Given the description of an element on the screen output the (x, y) to click on. 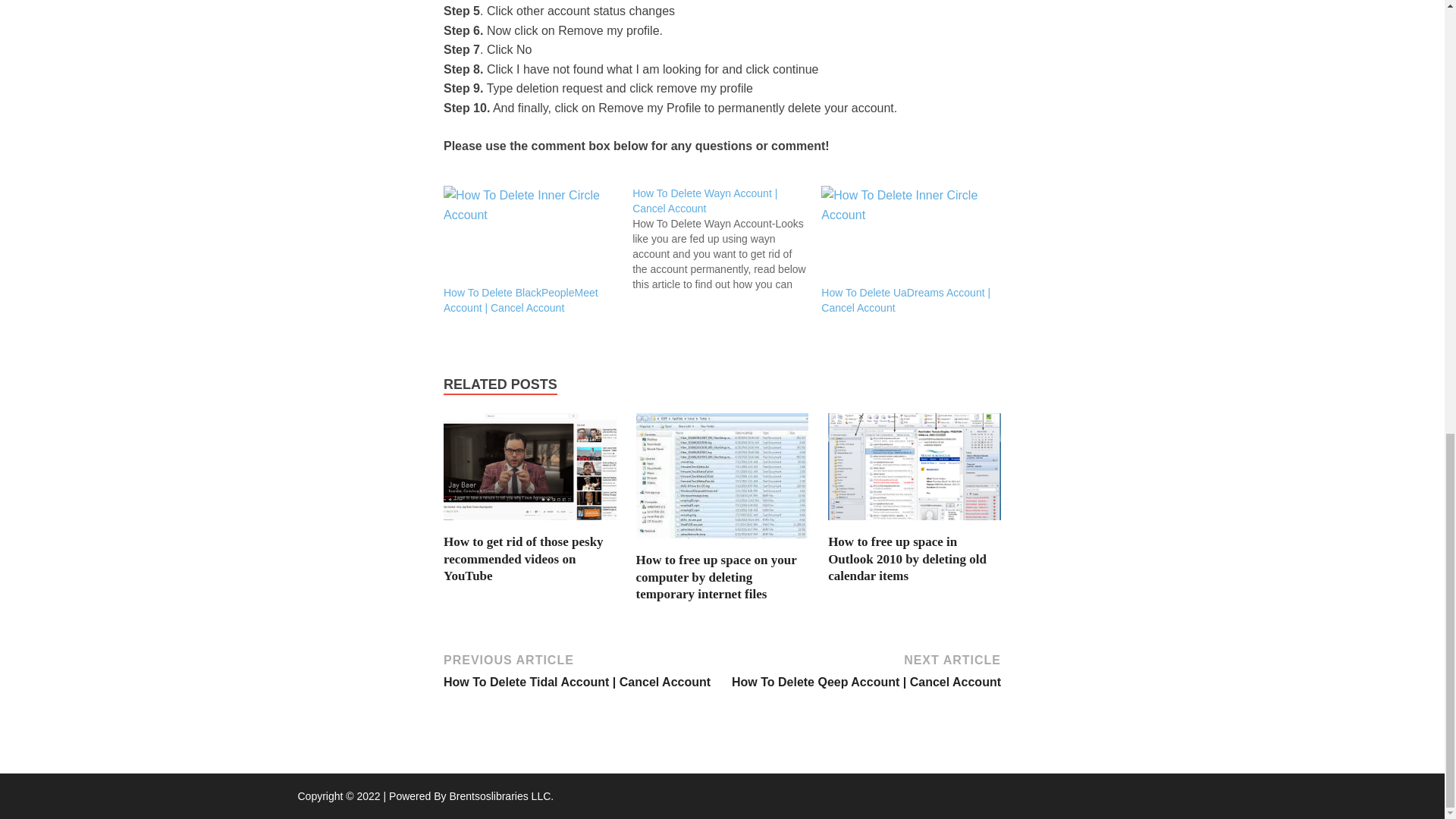
How to get rid of those pesky recommended videos on YouTube (524, 558)
How to get rid of those pesky recommended videos on YouTube (529, 523)
How to get rid of those pesky recommended videos on YouTube (524, 558)
